Given the description of an element on the screen output the (x, y) to click on. 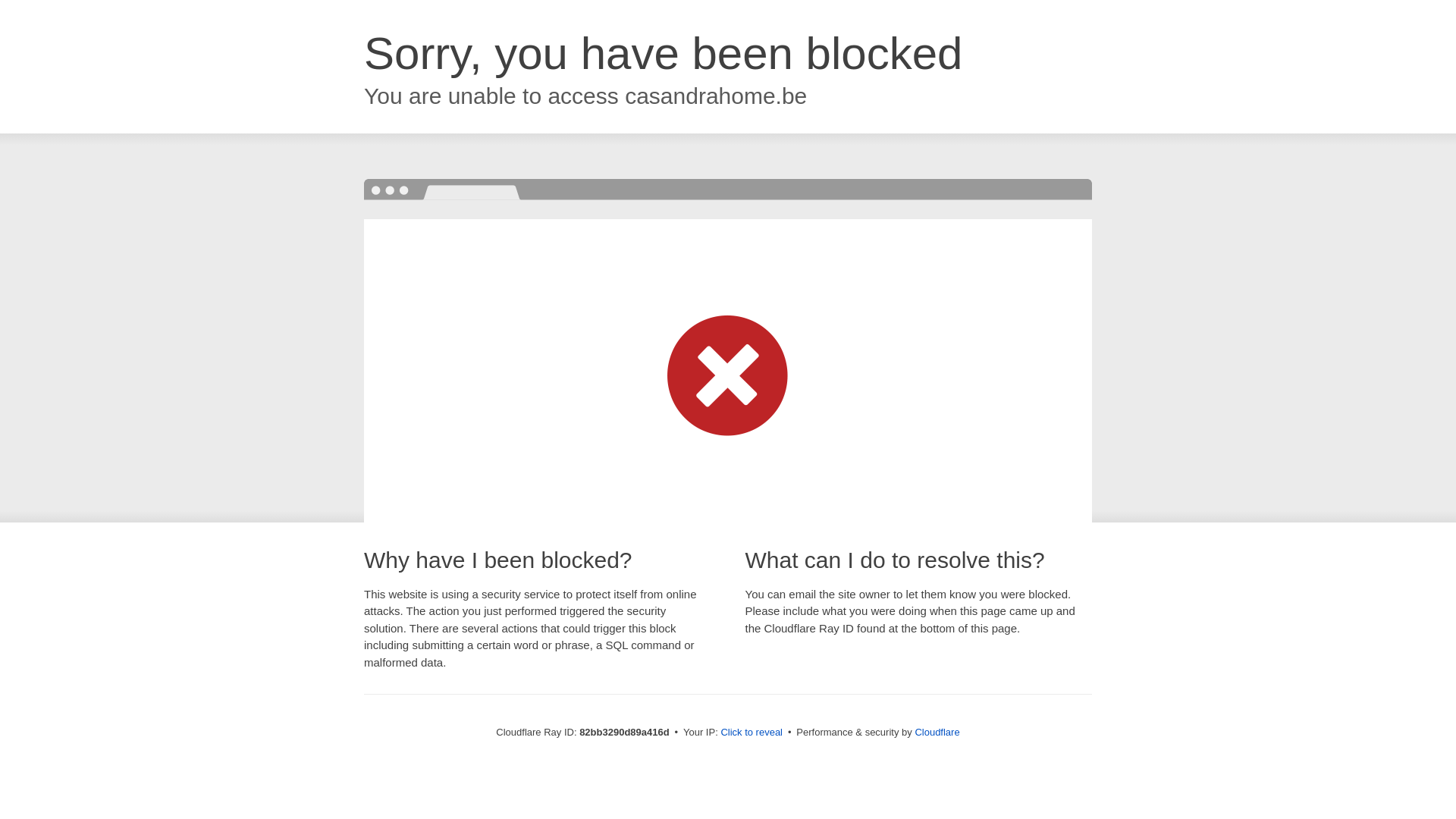
Click to reveal Element type: text (751, 732)
Cloudflare Element type: text (936, 731)
